Given the description of an element on the screen output the (x, y) to click on. 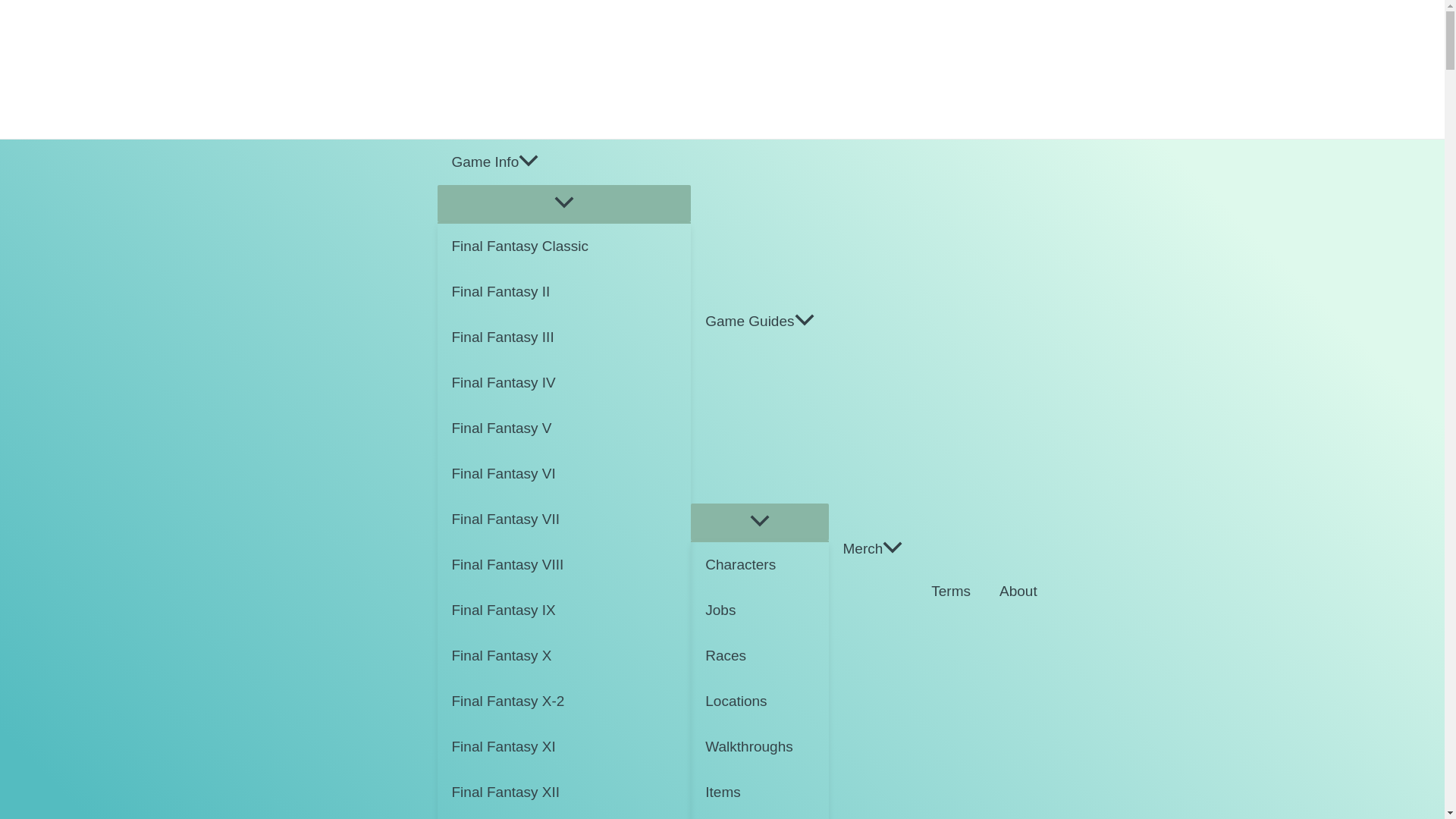
Final Fantasy IV (563, 382)
About (1018, 479)
Characters (759, 565)
Final Fantasy XI (563, 746)
Merch (872, 479)
Game Guides (759, 321)
Final Fantasy X (563, 655)
Menu Toggle (563, 203)
Game Info (563, 162)
Final Fantasy Classic (563, 246)
Items (759, 791)
Final Fantasy X-2 (563, 700)
Final Fantasy XIII (563, 816)
Final Fantasy VIII (563, 565)
Magic (759, 816)
